Given the description of an element on the screen output the (x, y) to click on. 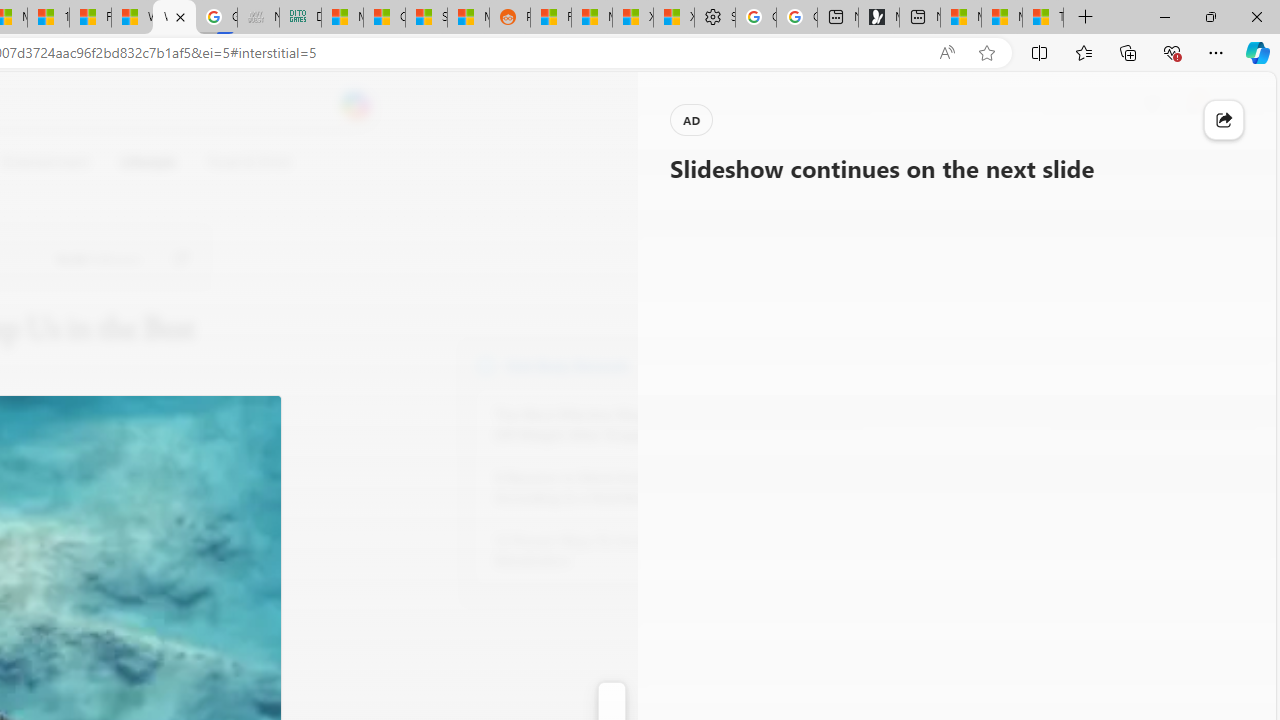
Body Network (486, 364)
8 Reasons to Drink Kombucha, According to a Nutritionist (603, 488)
